Given the description of an element on the screen output the (x, y) to click on. 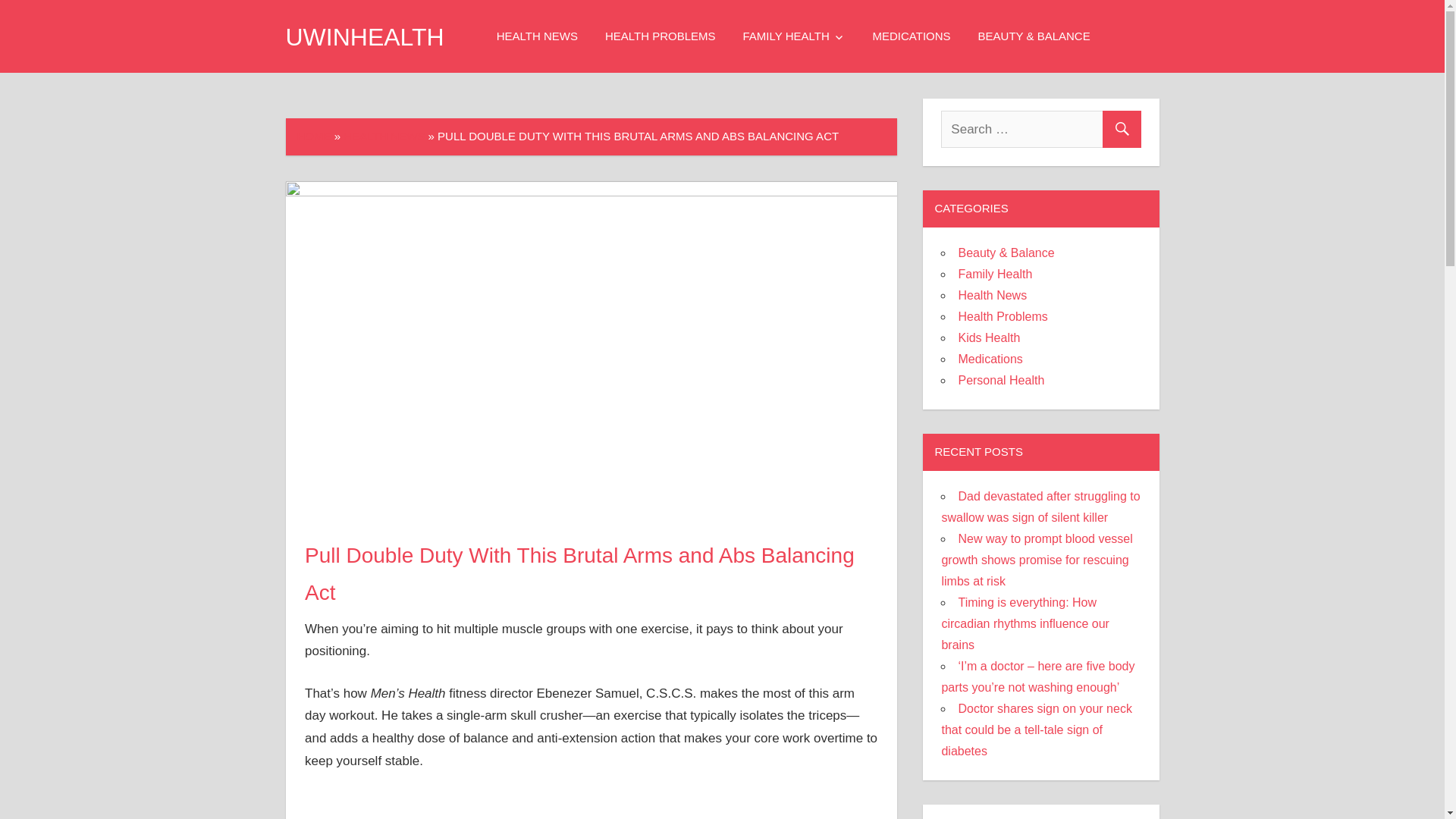
Medications (990, 358)
HEALTH NEWS (384, 135)
Kids Health (989, 337)
FAMILY HEALTH (794, 36)
Health Problems (1002, 316)
MEDICATIONS (911, 36)
HEALTH NEWS (537, 36)
Search for: (1040, 129)
Family Health (995, 273)
UWINHEALTH (364, 36)
HEALTH PROBLEMS (660, 36)
Health News (992, 295)
HOME (314, 135)
Personal Health (1000, 379)
